Given the description of an element on the screen output the (x, y) to click on. 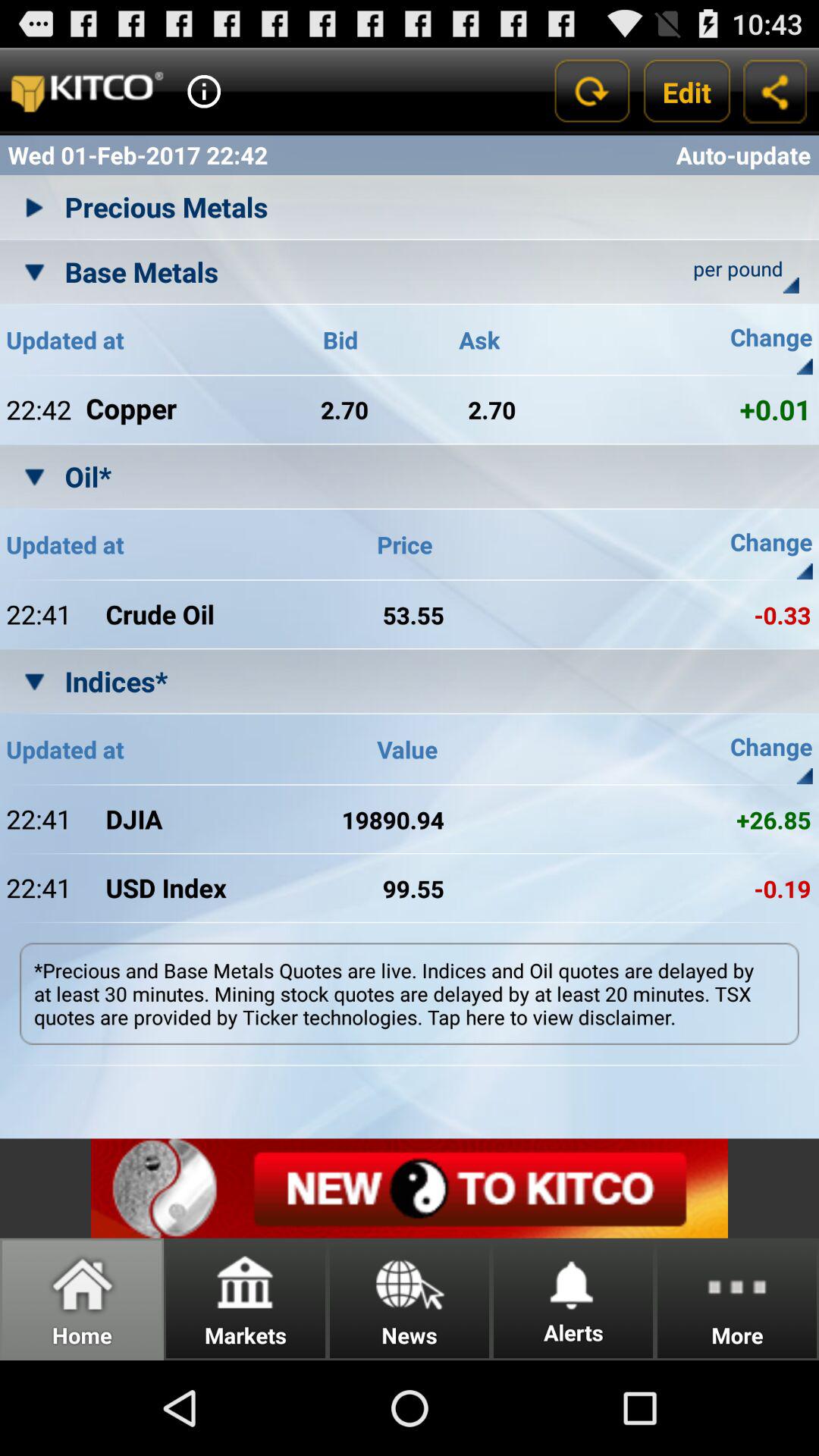
get information (204, 91)
